Given the description of an element on the screen output the (x, y) to click on. 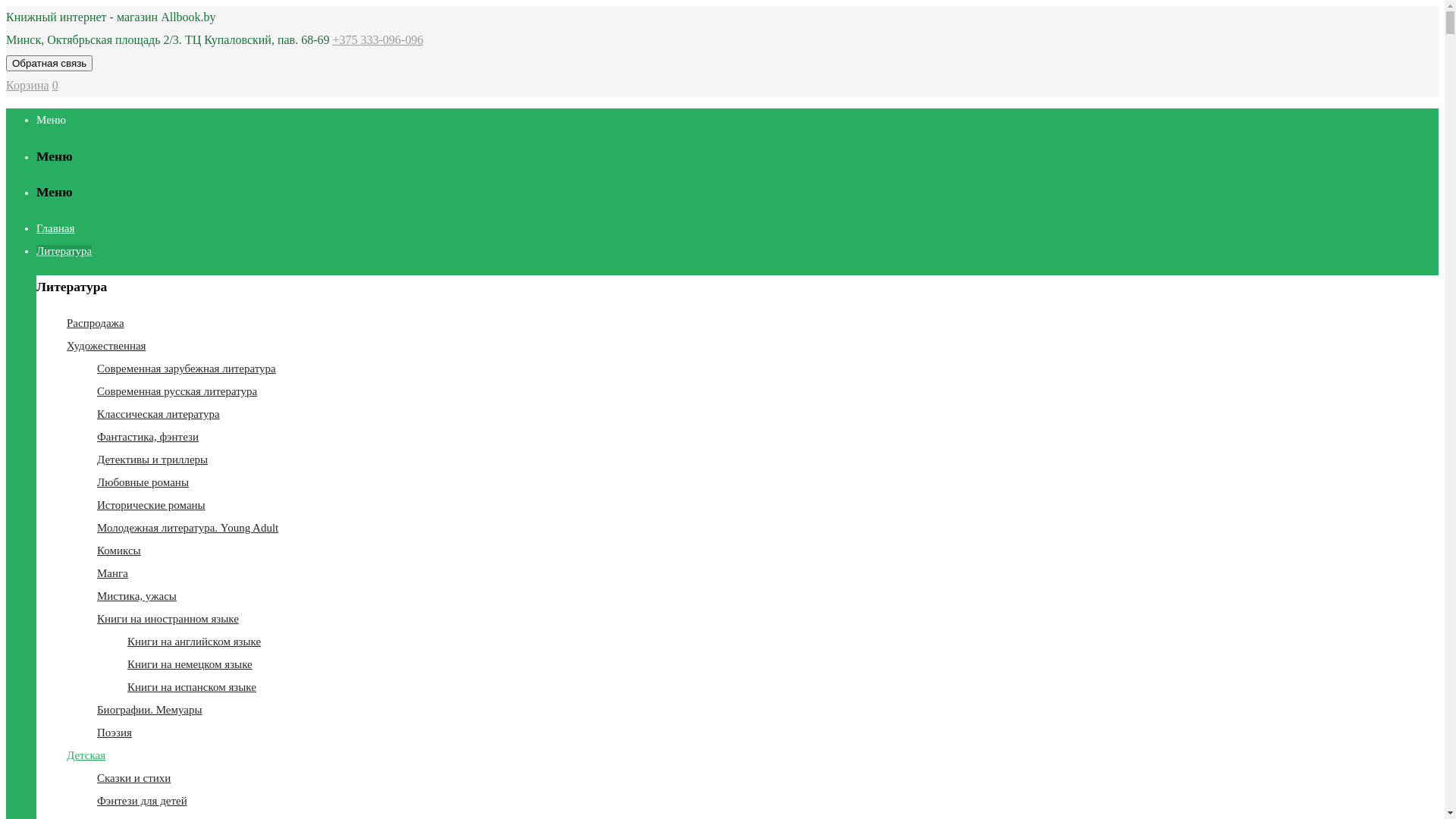
0 Element type: text (55, 84)
+375 333-096-096 Element type: text (377, 39)
